Given the description of an element on the screen output the (x, y) to click on. 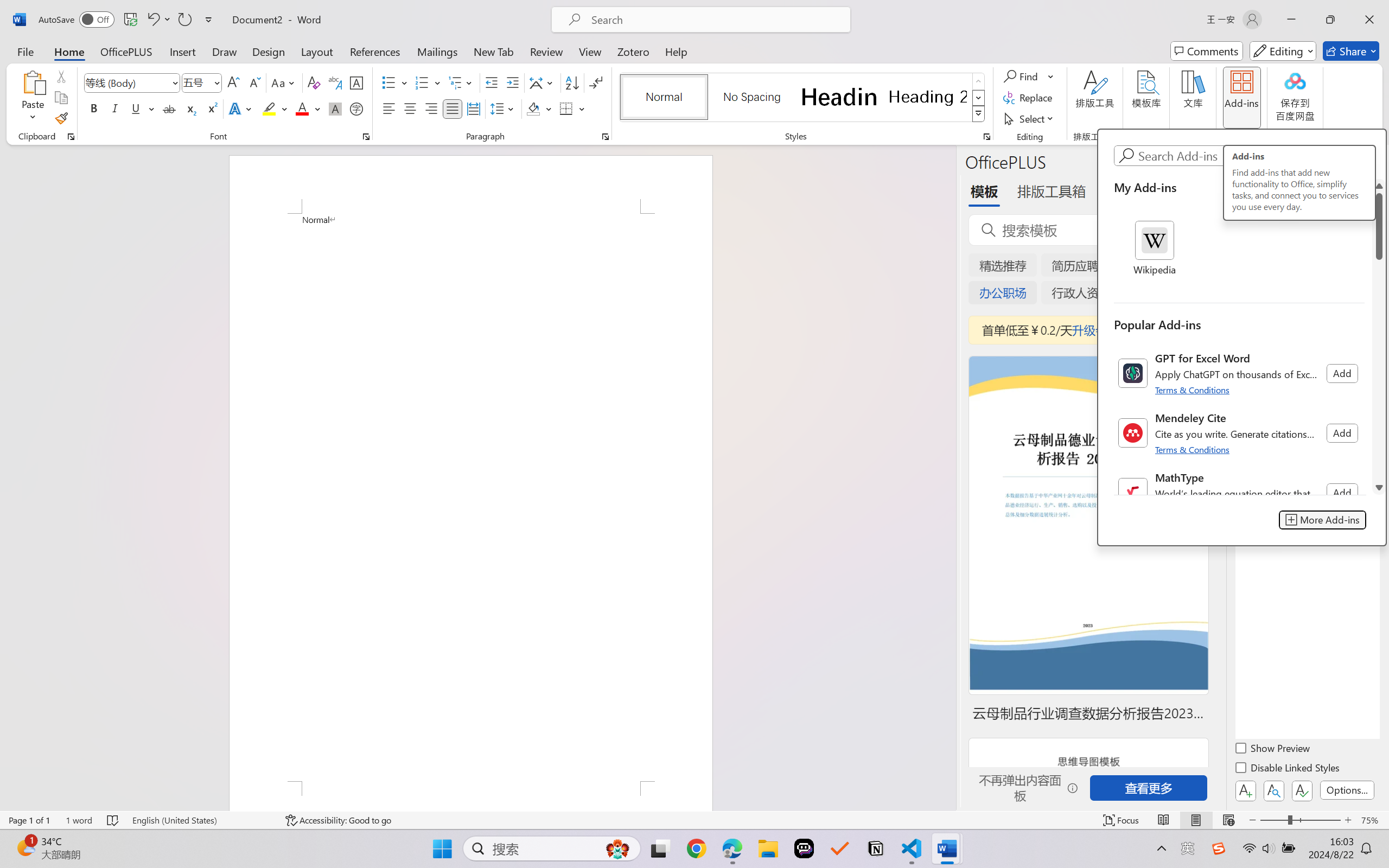
Find (1029, 75)
Read Mode (1163, 819)
Close (1369, 19)
Format Painter (60, 118)
